Given the description of an element on the screen output the (x, y) to click on. 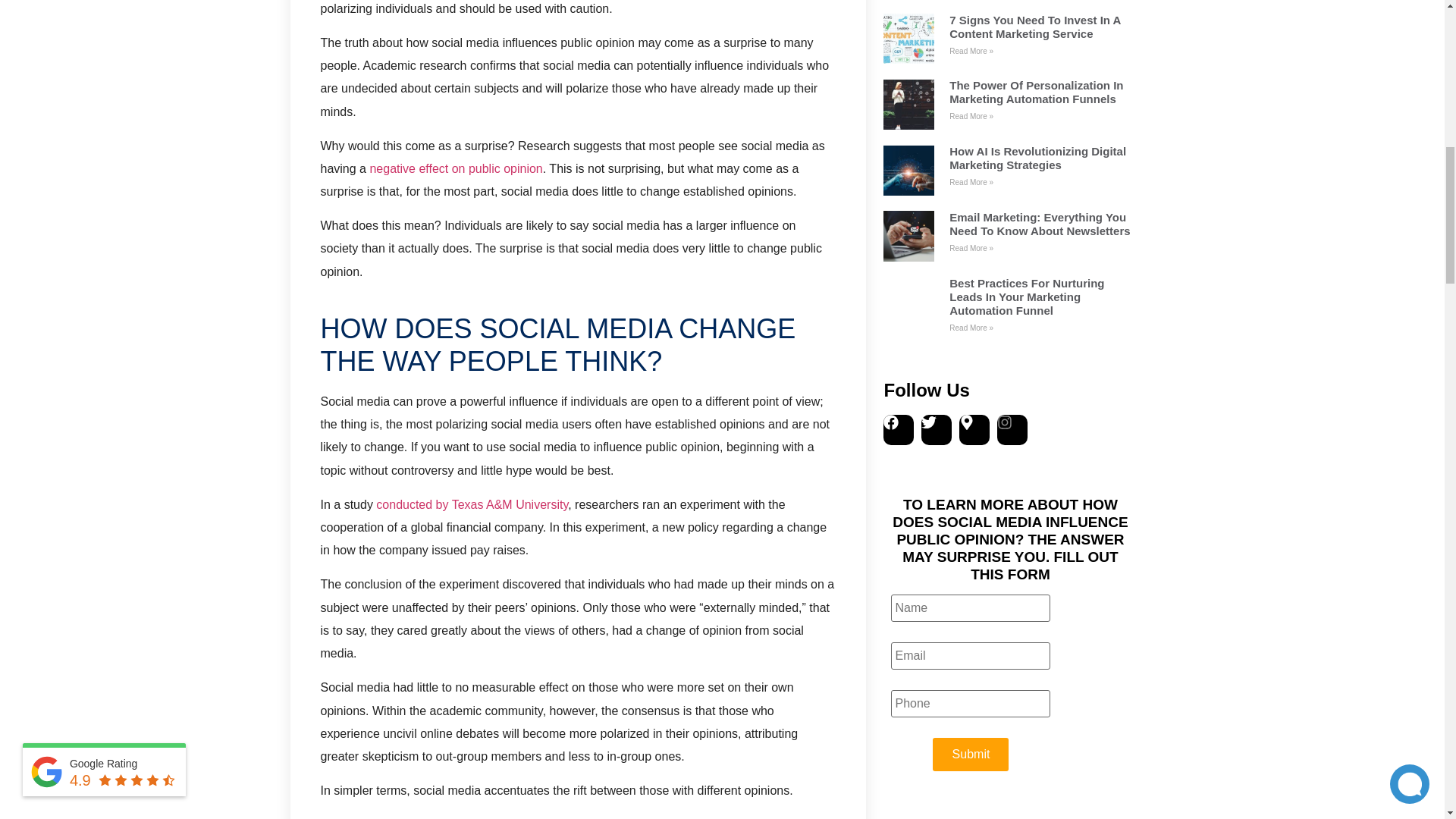
Submit (971, 754)
